Given the description of an element on the screen output the (x, y) to click on. 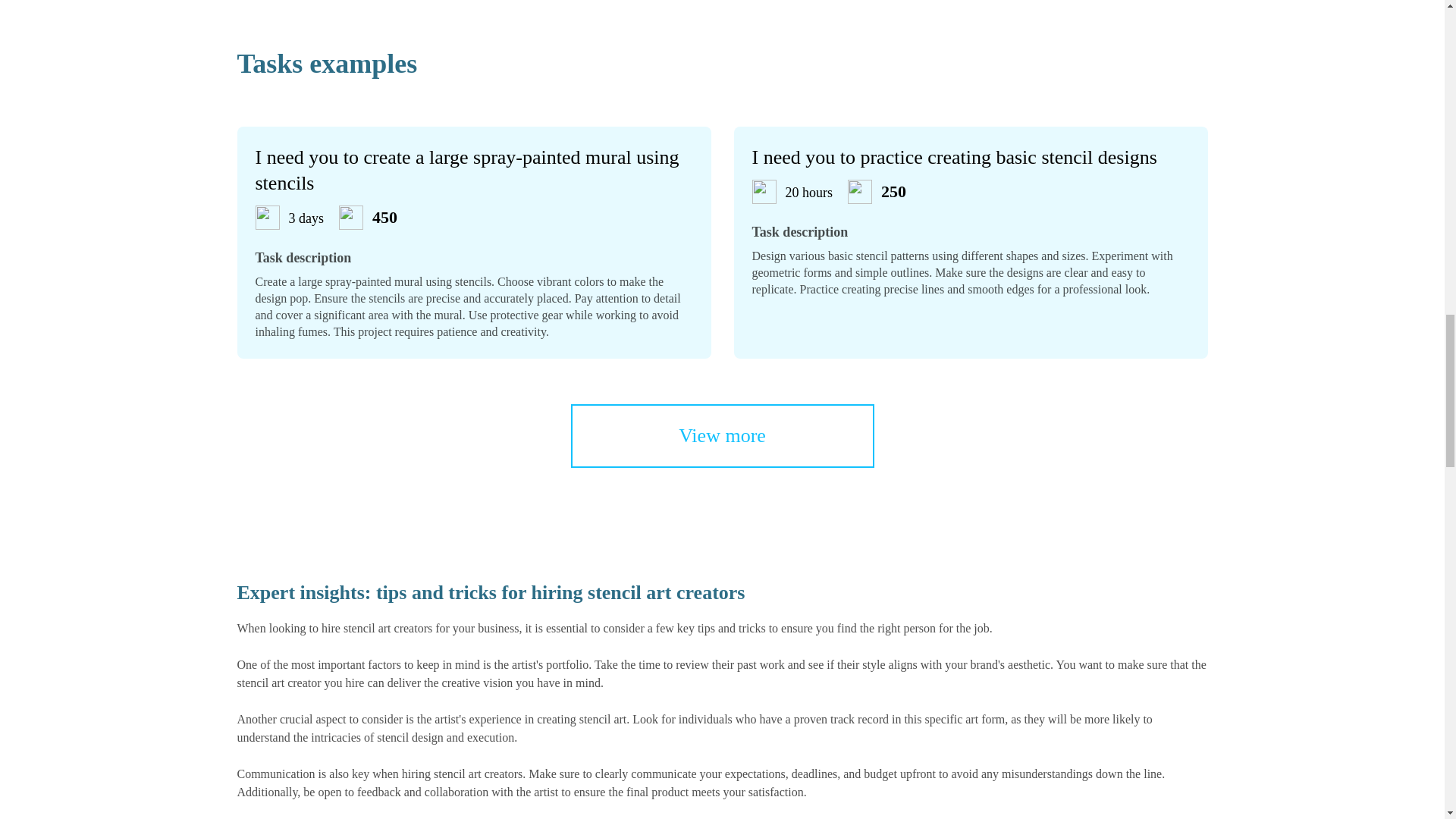
View more (721, 435)
